Given the description of an element on the screen output the (x, y) to click on. 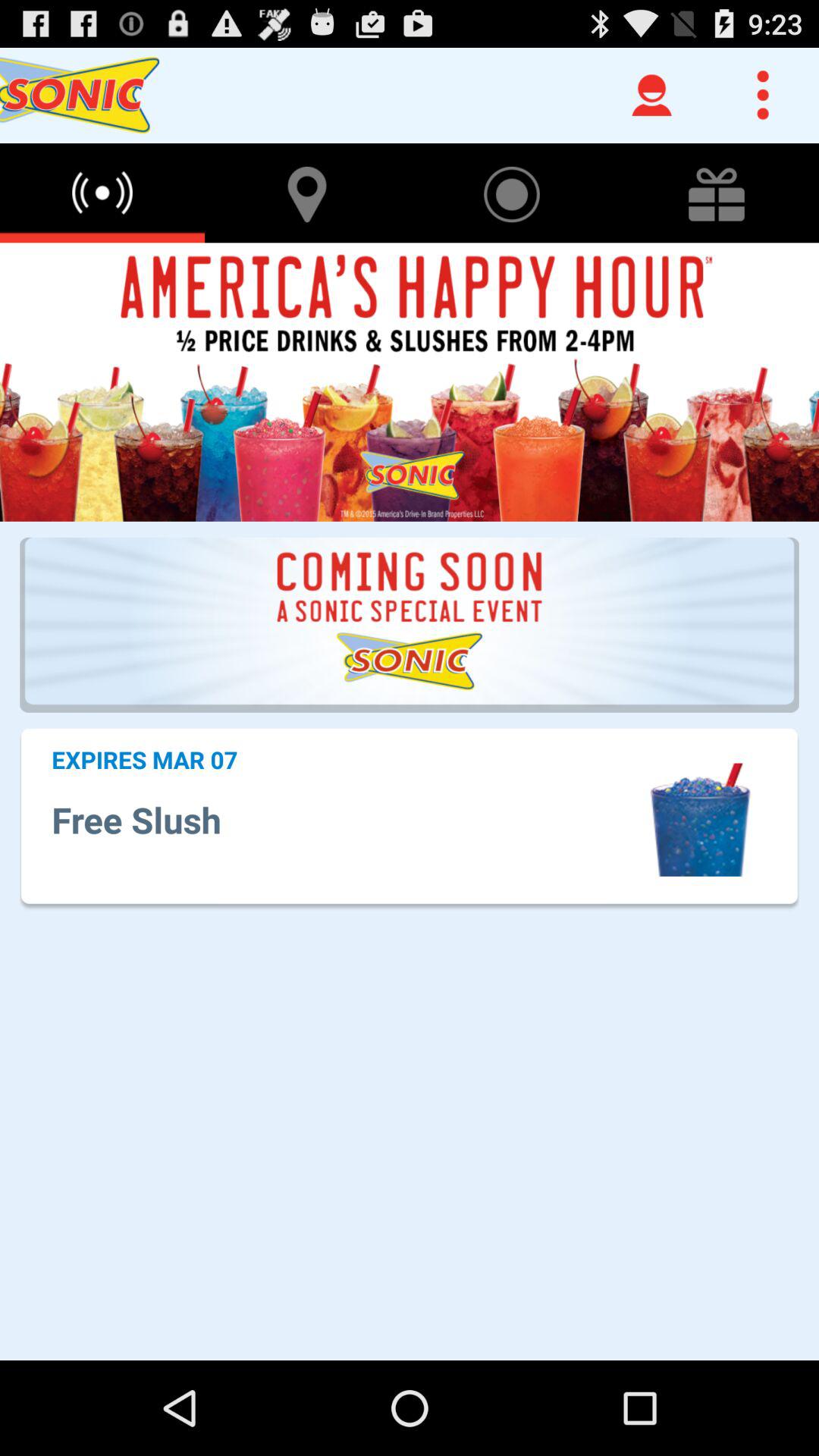
open the expires mar 07 item (144, 759)
